Given the description of an element on the screen output the (x, y) to click on. 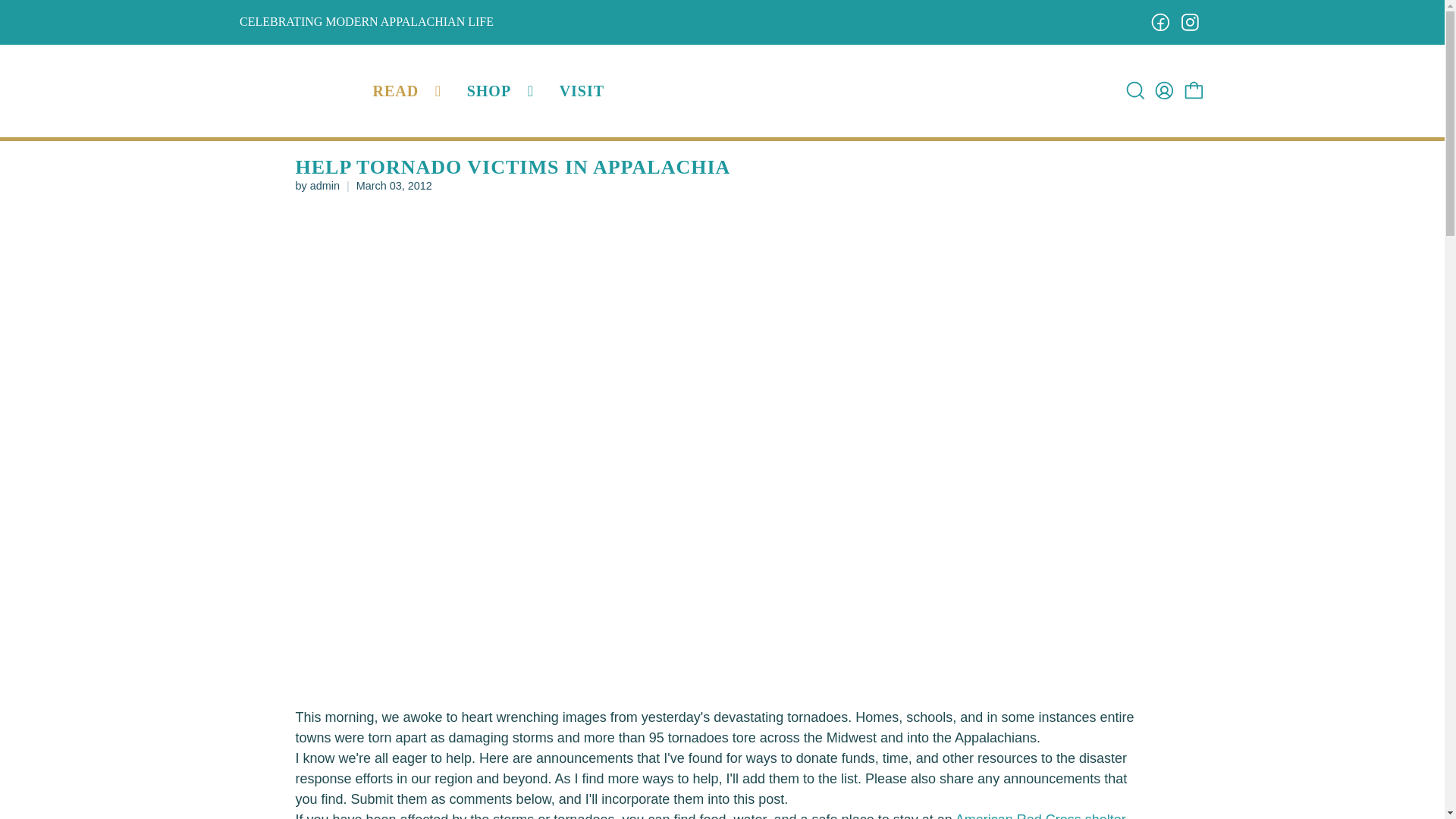
VISIT (581, 90)
SHOP (502, 90)
Woodshed: An Appalachian Joint on Facebook (1161, 22)
Woodshed: An Appalachian Joint on Instagram (1190, 22)
READ (409, 90)
Red Cross shelter (1040, 815)
Woodshed: An Appalachian Joint (301, 91)
